Given the description of an element on the screen output the (x, y) to click on. 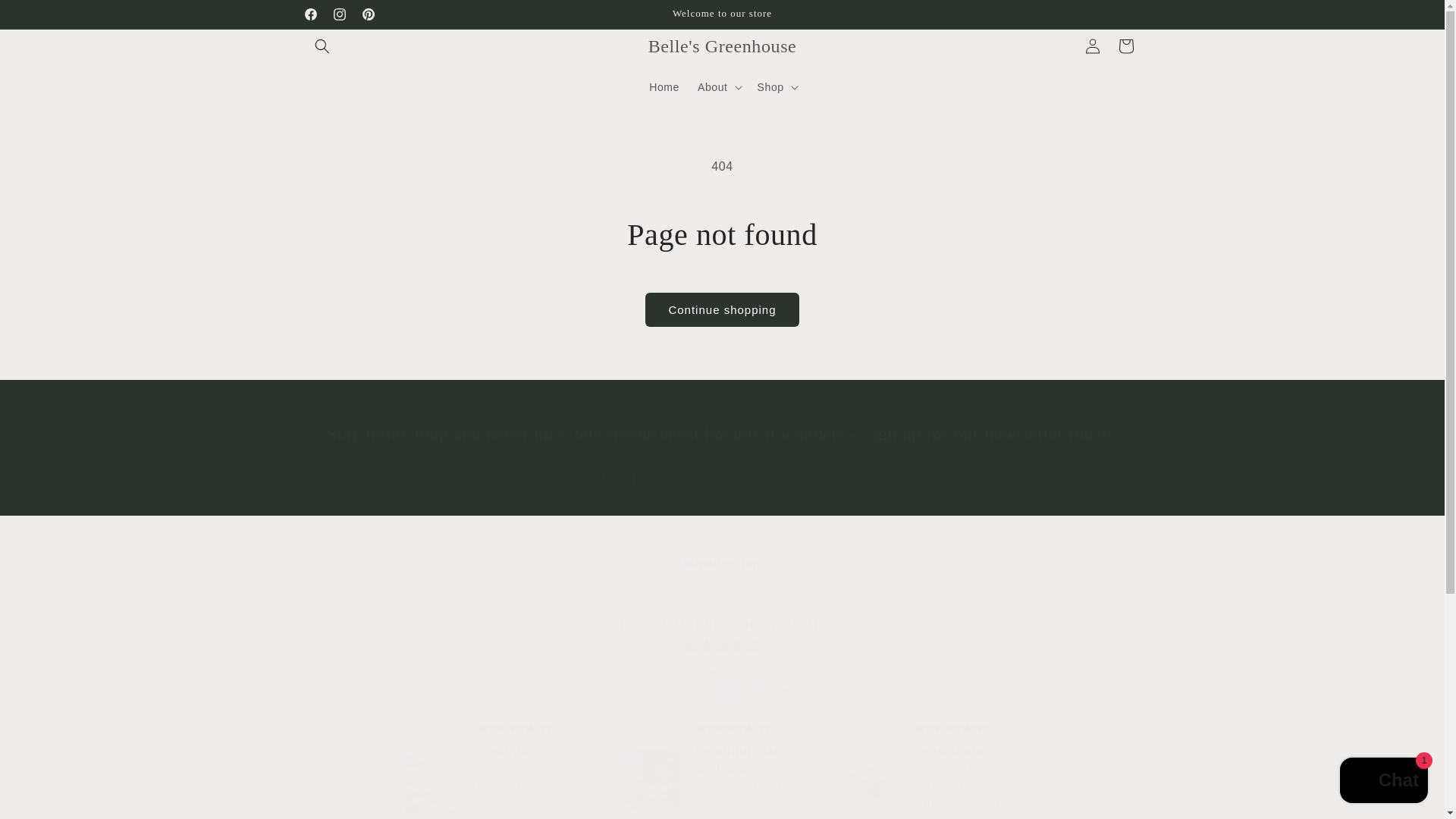
Shopify online store chat (1383, 781)
Skip to content (45, 16)
Instagram (338, 14)
Email (722, 479)
Pinterest (367, 14)
Belle's Greenhouse (722, 46)
Facebook (309, 14)
